Given the description of an element on the screen output the (x, y) to click on. 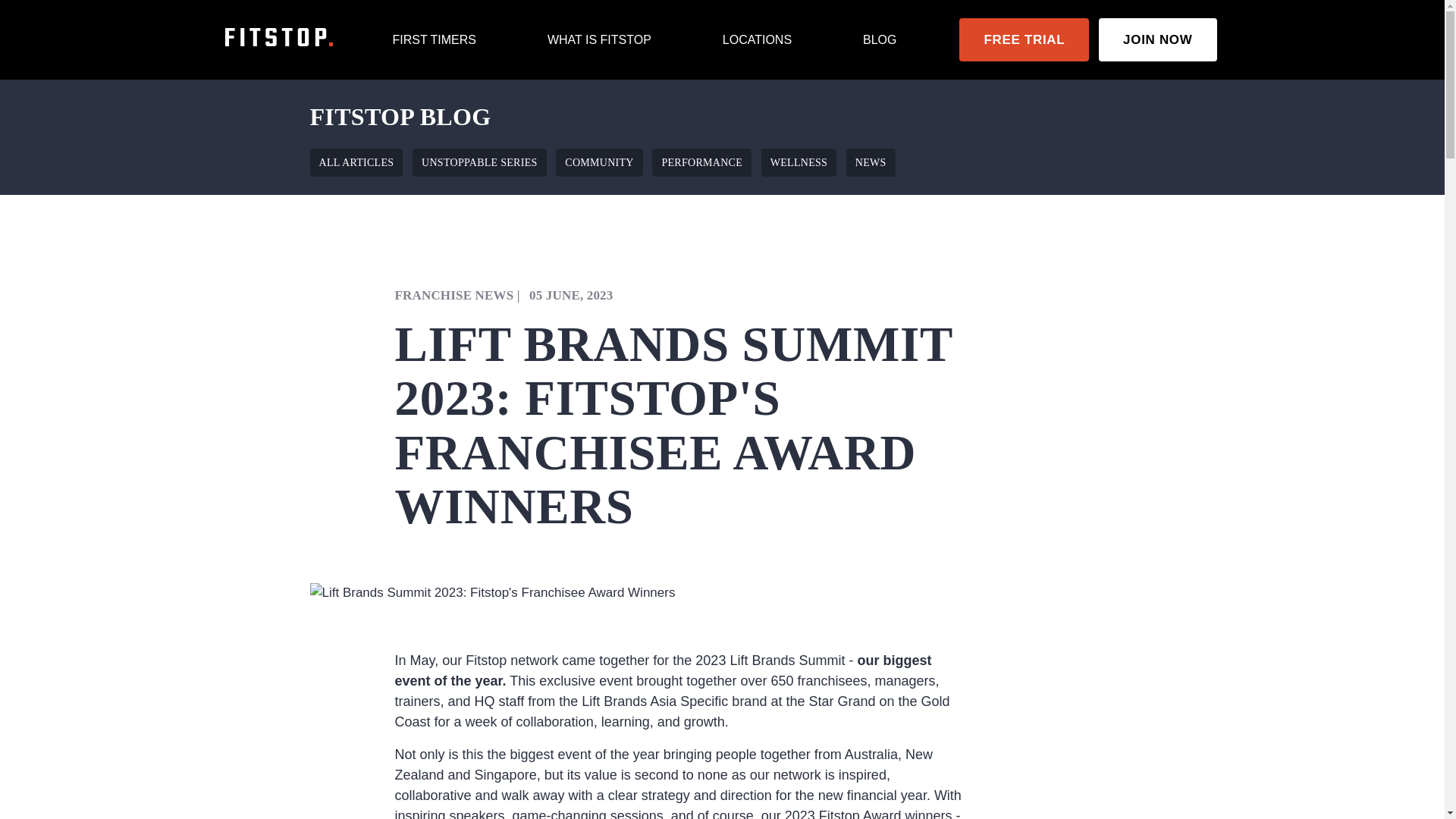
WHAT IS FITSTOP (599, 39)
BLOG (879, 39)
NEWS (870, 162)
FIRST TIMERS (433, 39)
LOCATIONS (756, 39)
WELLNESS (798, 162)
COMMUNITY (599, 162)
ALL ARTICLES (355, 162)
FREE TRIAL (1024, 39)
JOIN NOW (1157, 39)
